Given the description of an element on the screen output the (x, y) to click on. 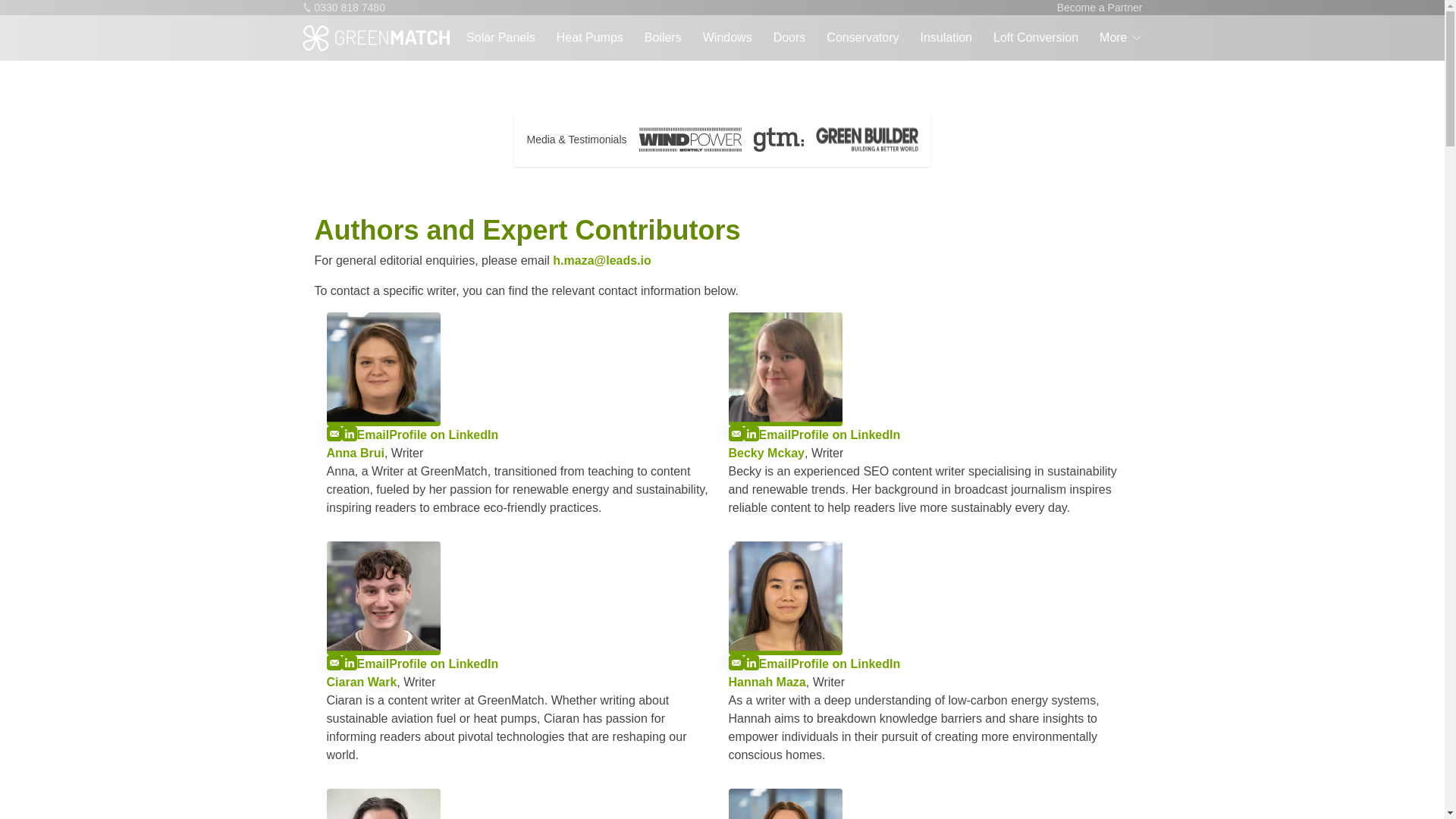
0330 818 7480 (342, 7)
Windows (727, 37)
Heat Pumps (589, 37)
Solar Panels (500, 37)
Boilers (663, 37)
Windows (727, 37)
Boilers (663, 37)
Solar Panels (500, 37)
Become a Partner (1099, 7)
Heat Pumps (589, 37)
